Given the description of an element on the screen output the (x, y) to click on. 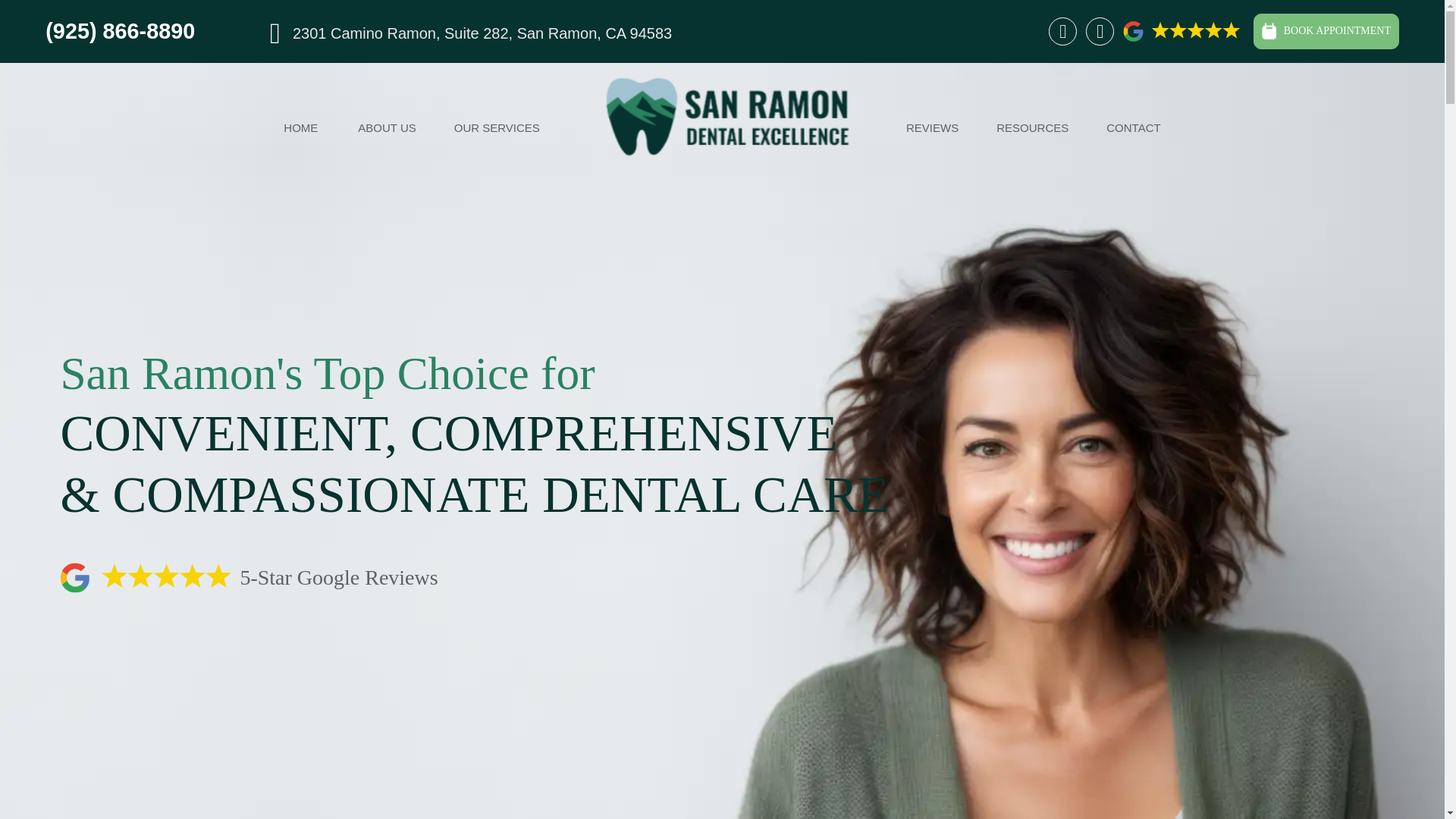
REVIEWS (932, 127)
CONTACT (1133, 127)
HOME (300, 127)
ABOUT US (386, 127)
OUR SERVICES (496, 127)
RESOURCES (1032, 127)
2301 Camino Ramon, Suite 282, San Ramon, CA 94583 (470, 32)
BOOK APPOINTMENT (1326, 31)
